Given the description of an element on the screen output the (x, y) to click on. 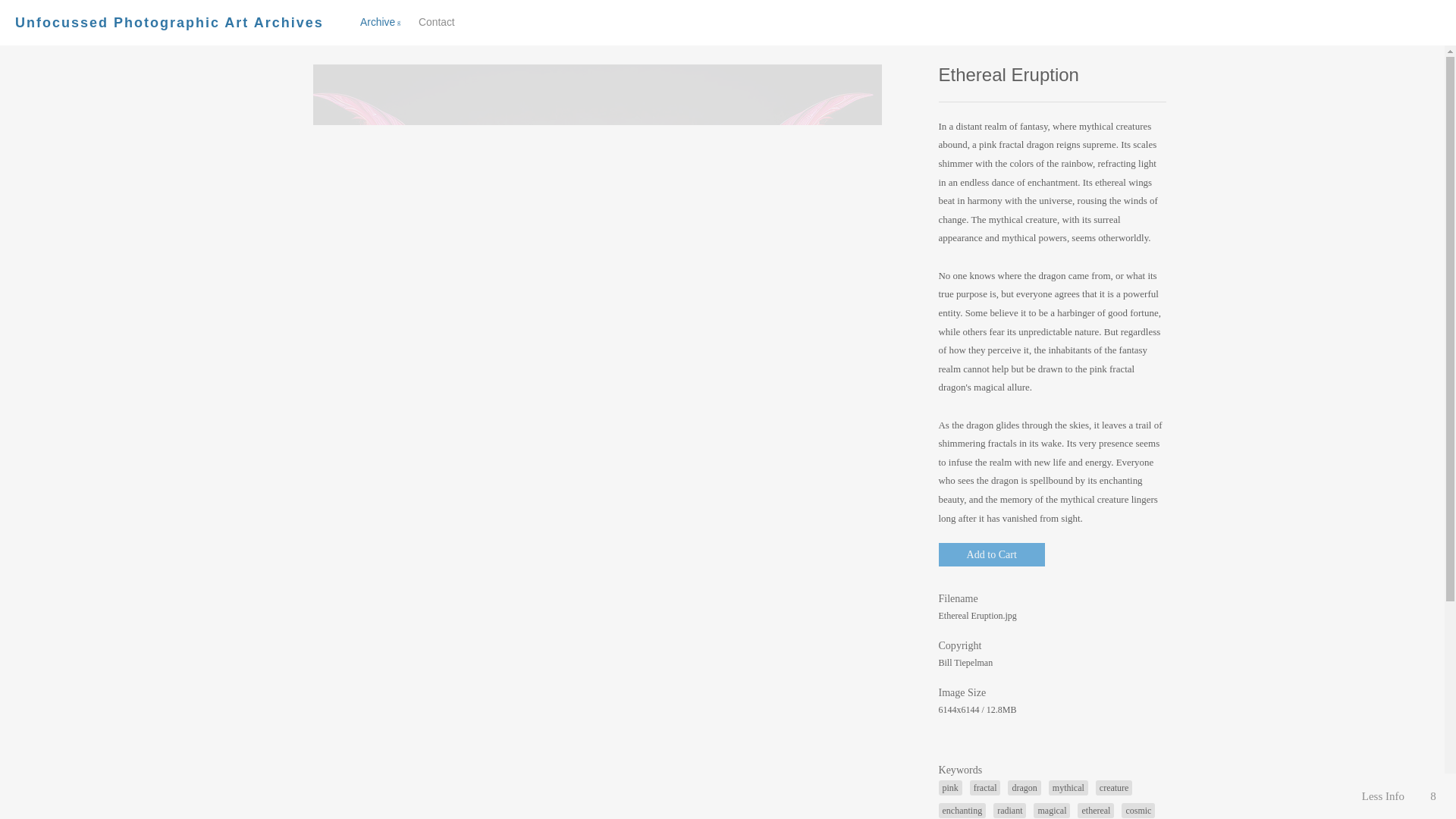
Contact (436, 21)
pink (950, 787)
fractal (985, 787)
Add to Cart (992, 554)
enchanting (963, 810)
Unfocussed Photographic Art Archives (168, 22)
mythical (1067, 787)
creature (1114, 787)
radiant (1009, 810)
Add to Cart (992, 554)
dragon (1024, 787)
cosmic (1137, 810)
magical (1051, 810)
Unfocussed Photographic Art Archives (168, 22)
